Given the description of an element on the screen output the (x, y) to click on. 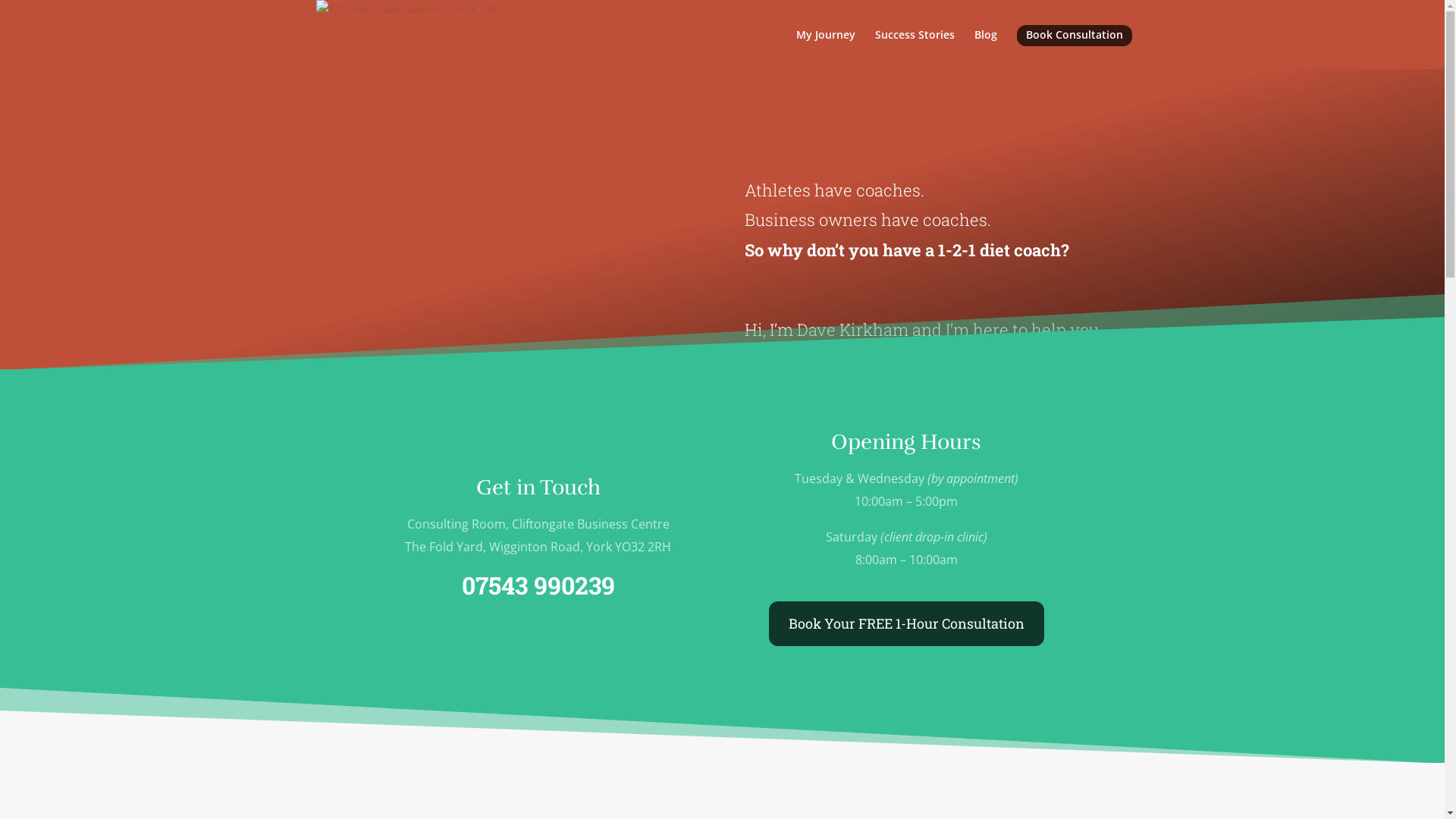
07543 990239 Element type: text (538, 584)
My Journey Element type: text (825, 47)
Book Your FREE 1-Hour Consultation Element type: text (906, 623)
Book Consultation Element type: text (1073, 35)
Blog Element type: text (984, 47)
Success Stories Element type: text (914, 47)
